Given the description of an element on the screen output the (x, y) to click on. 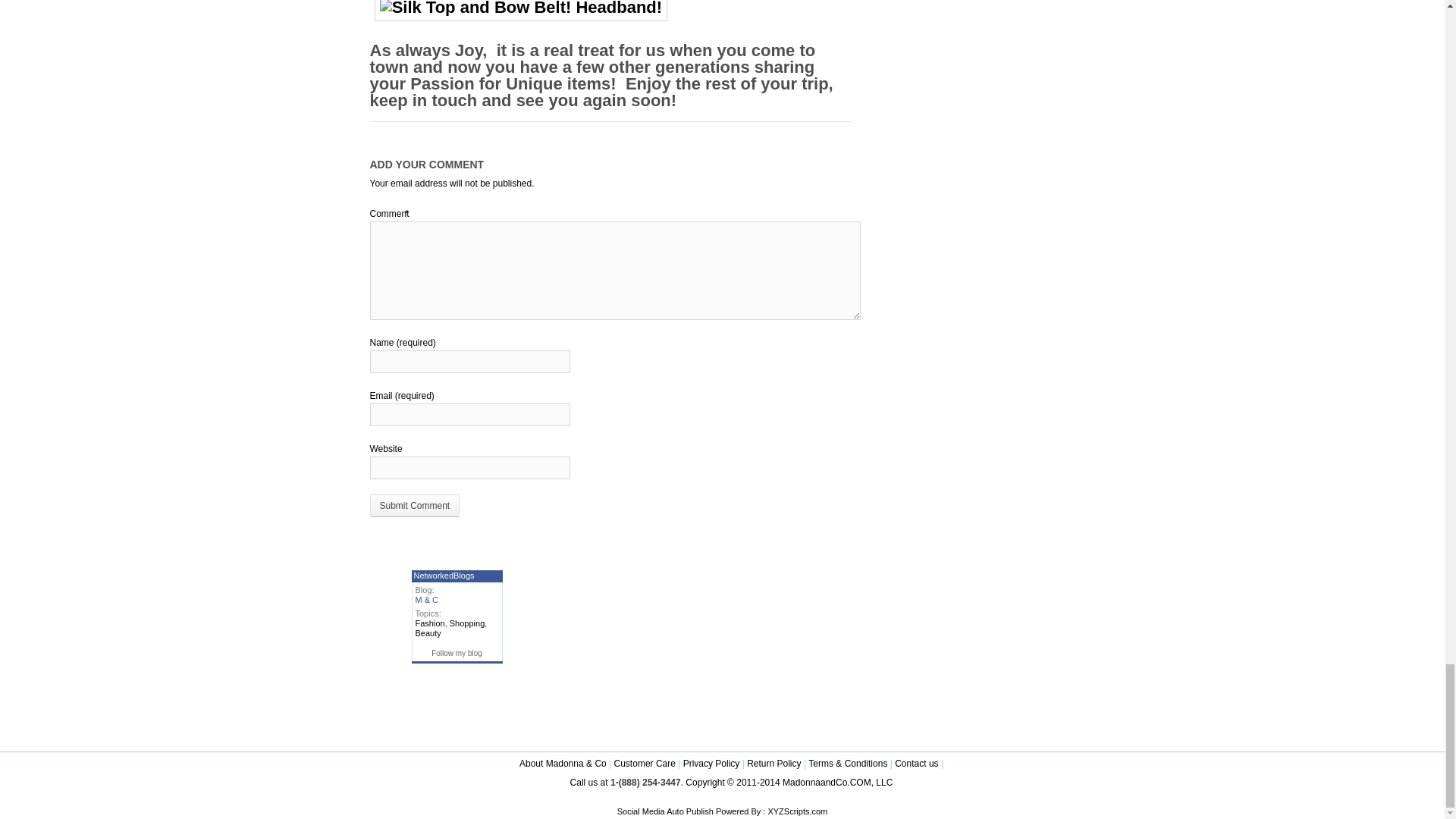
Submit Comment (414, 505)
Social Media Auto Publish (665, 810)
